Given the description of an element on the screen output the (x, y) to click on. 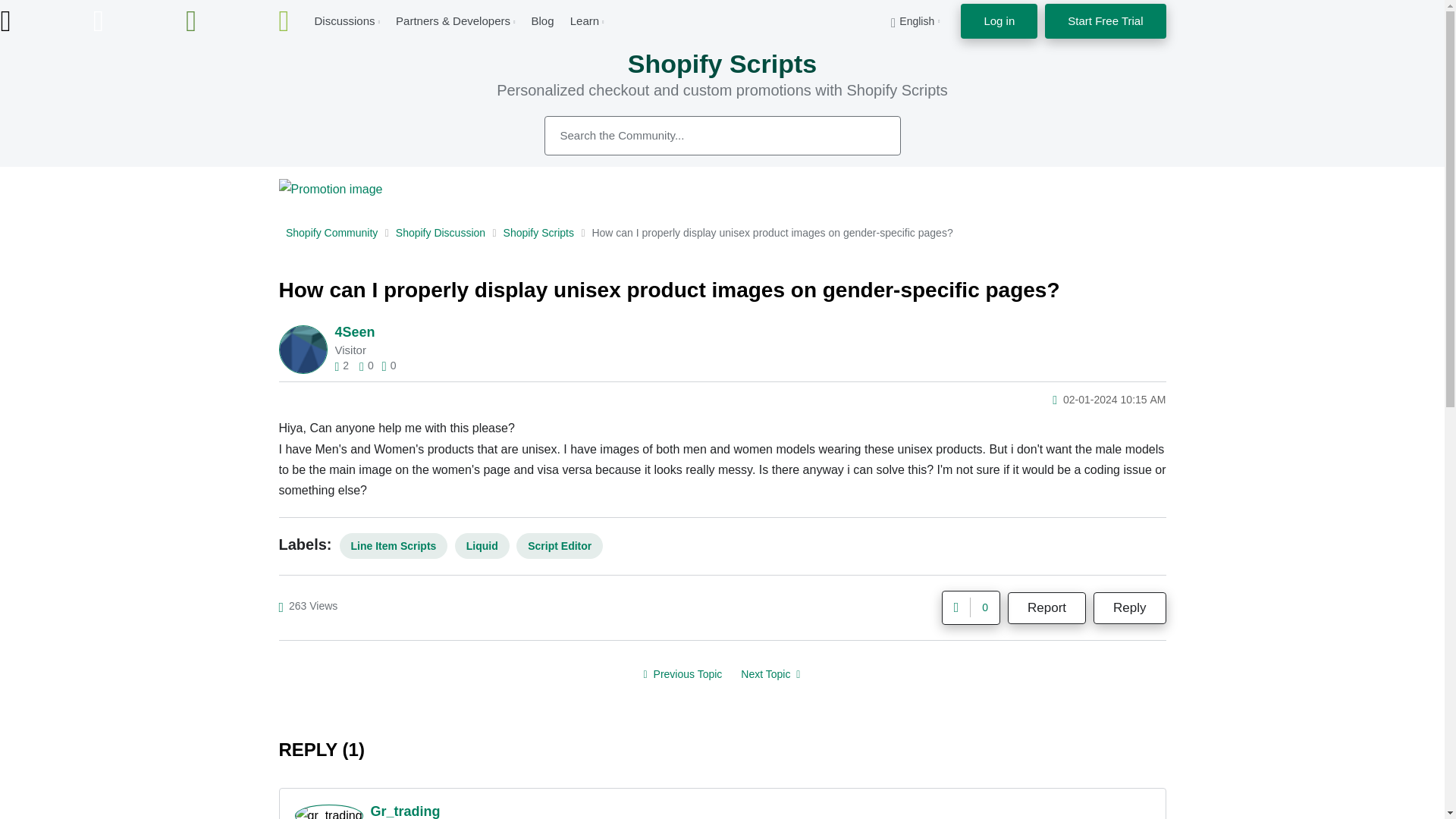
Search (872, 135)
Search (872, 135)
Search (722, 135)
Discussions (344, 20)
